Given the description of an element on the screen output the (x, y) to click on. 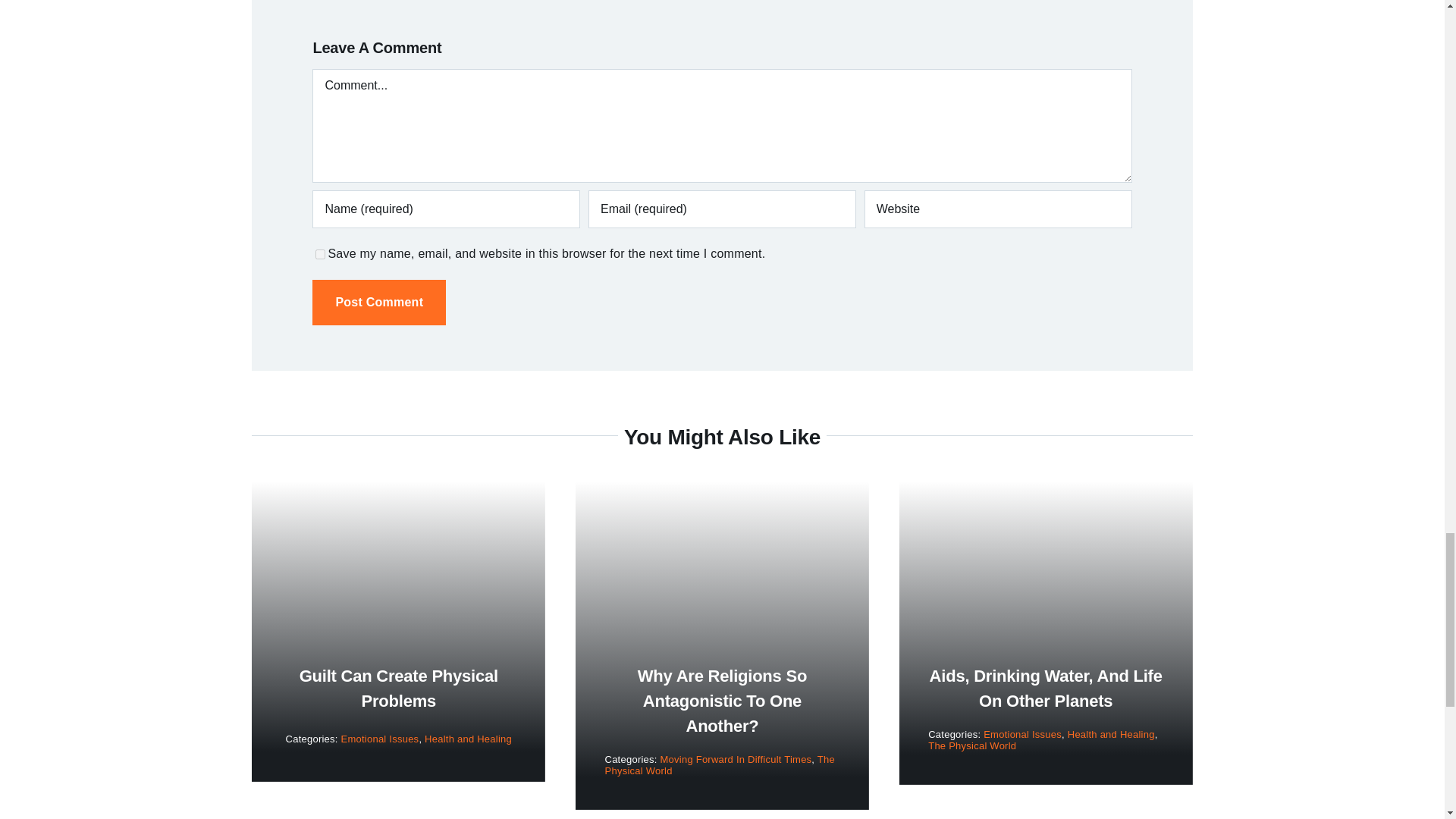
Post Comment (379, 302)
yes (319, 254)
